Given the description of an element on the screen output the (x, y) to click on. 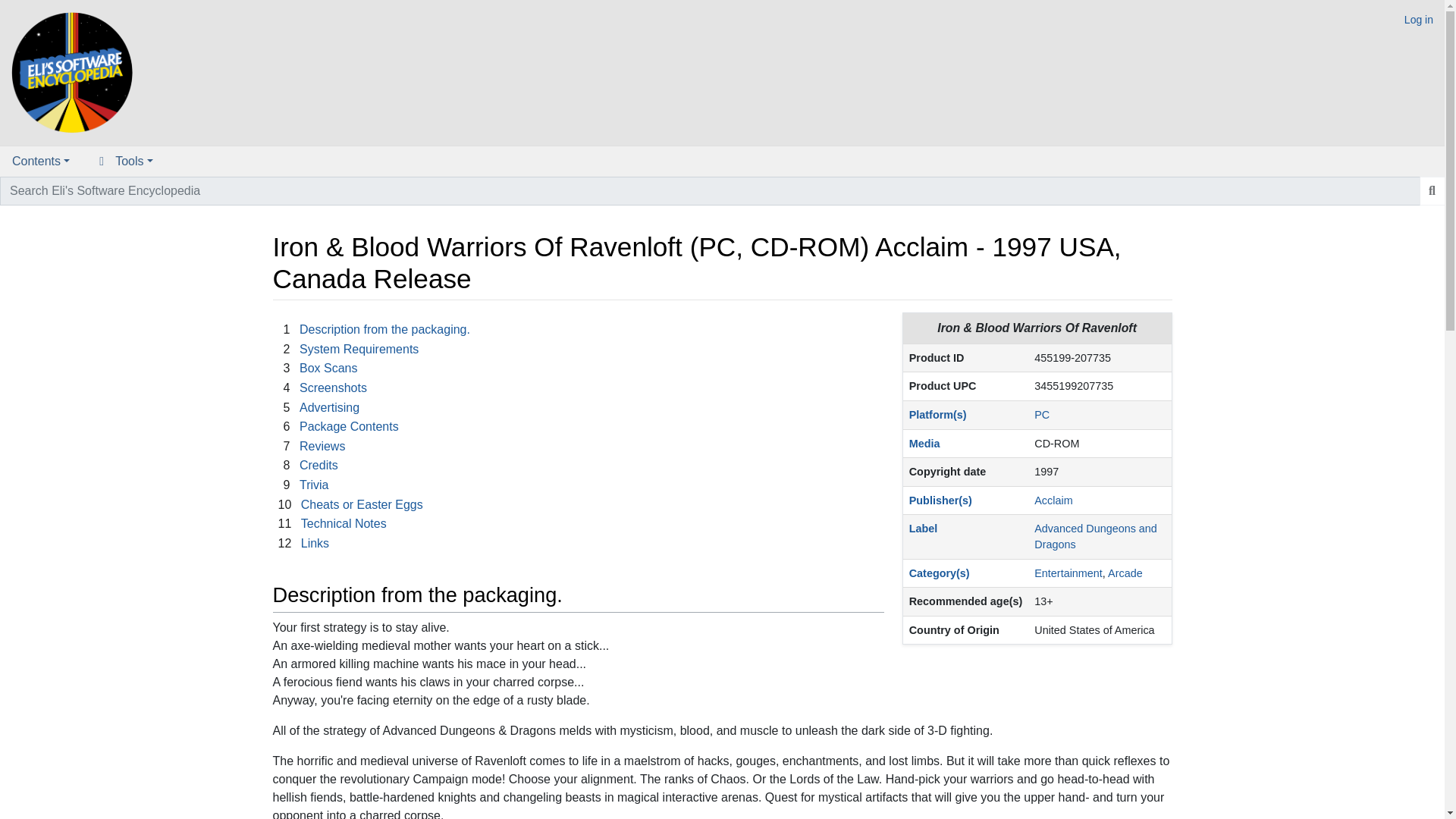
8 Credits (307, 464)
5 Advertising (318, 407)
9 Trivia (303, 484)
Category:PC Software (1041, 414)
Arcade (1125, 573)
Category:Software Publisher (940, 500)
1 Description from the packaging. (373, 328)
Category:Hardware (937, 414)
Label (922, 528)
10 Cheats or Easter Eggs (350, 504)
3 Box Scans (317, 367)
Log in (1418, 19)
Digital Media (924, 443)
Category:Advanced Dungeons and Dragons (1095, 536)
2 System Requirements (348, 349)
